Given the description of an element on the screen output the (x, y) to click on. 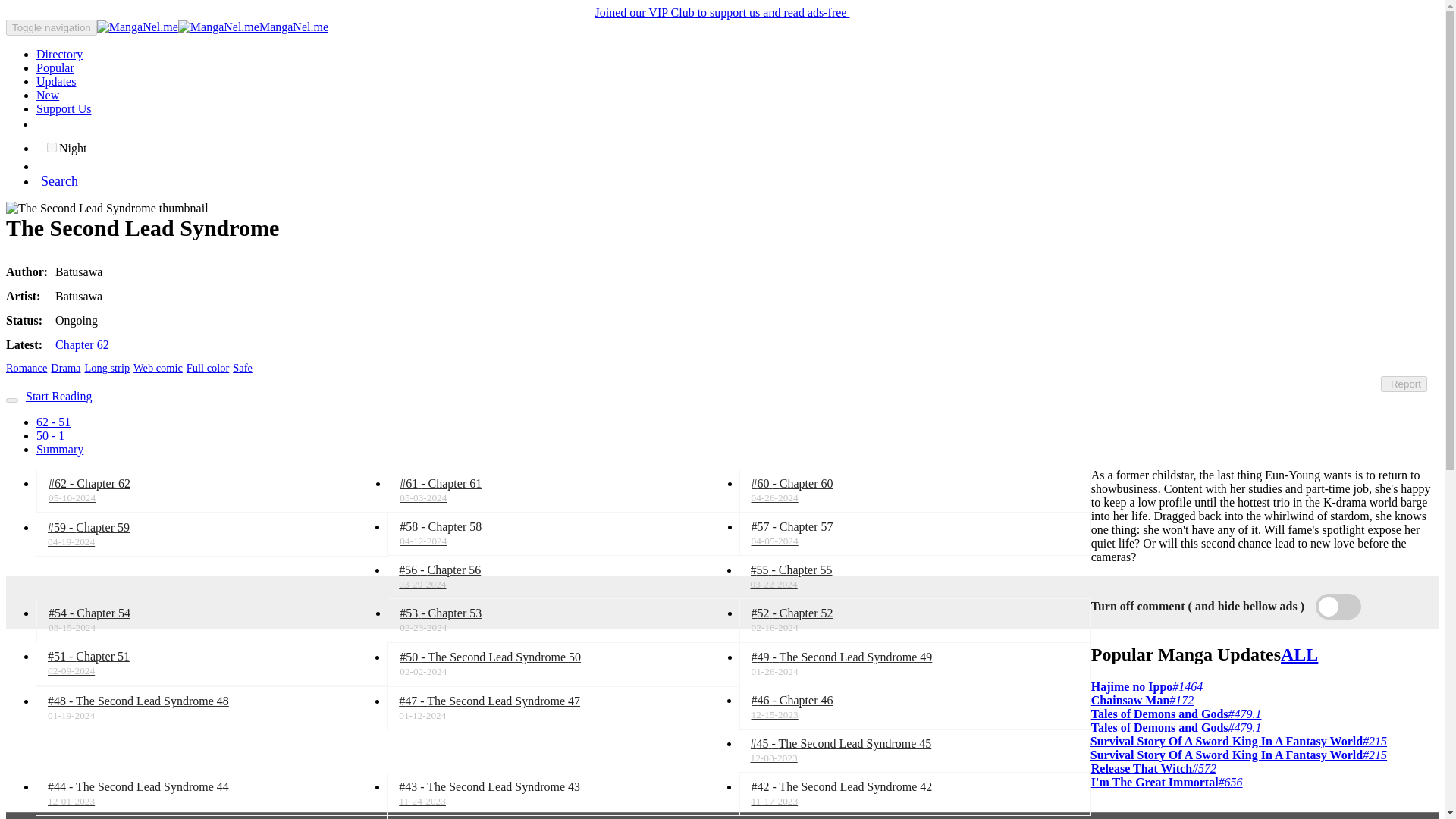
on (51, 147)
Romance (25, 367)
62 - 51 (52, 421)
Report (1403, 383)
Search (57, 181)
Safe (241, 367)
Toggle navigation (51, 27)
Full color (207, 367)
Support Us (63, 108)
Summary (59, 449)
Popular (55, 67)
50 - 1 (50, 435)
Drama (65, 367)
MangaNel.me (213, 26)
New (47, 94)
